Given the description of an element on the screen output the (x, y) to click on. 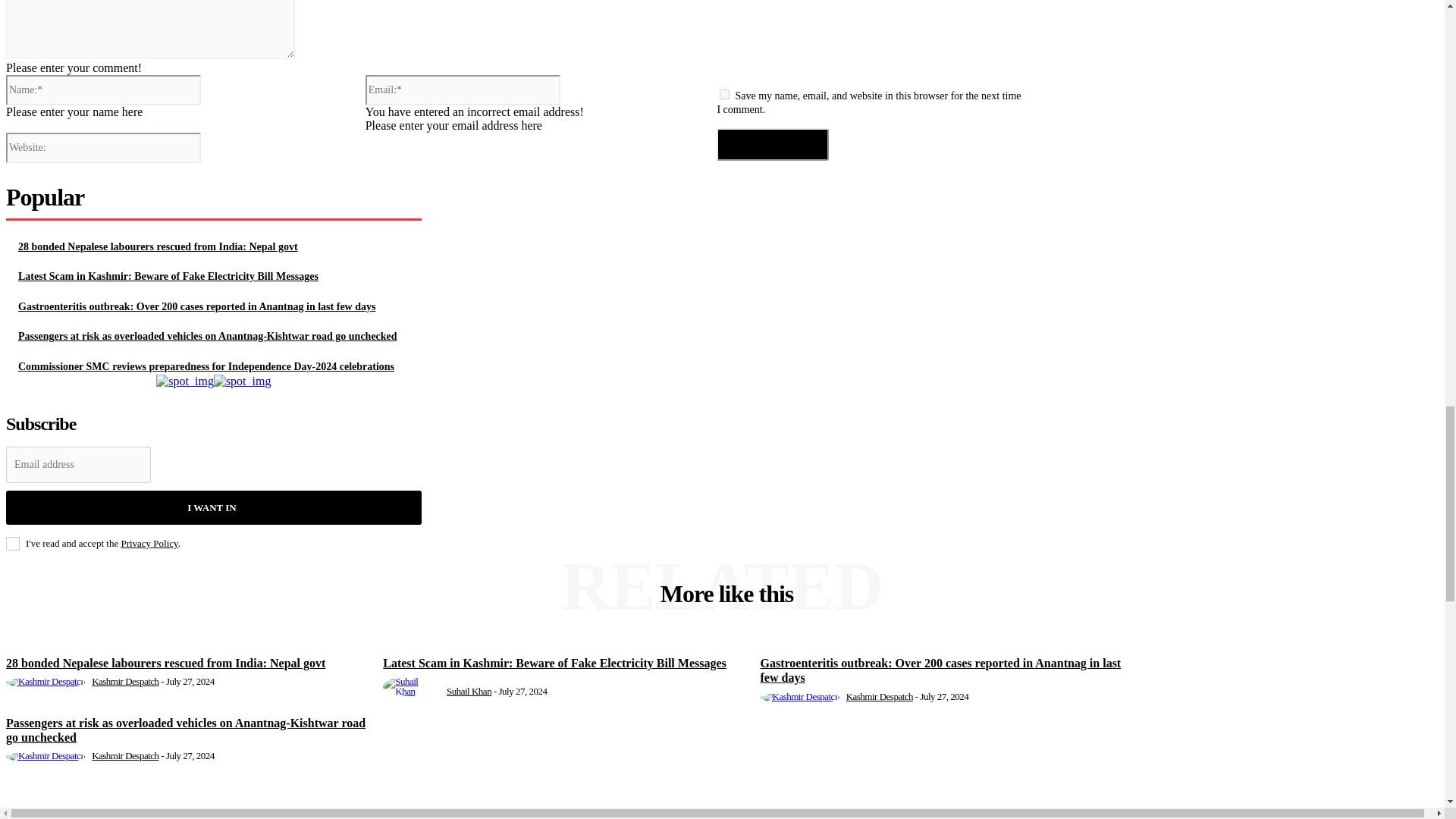
yes (724, 94)
Post Comment (772, 143)
